Given the description of an element on the screen output the (x, y) to click on. 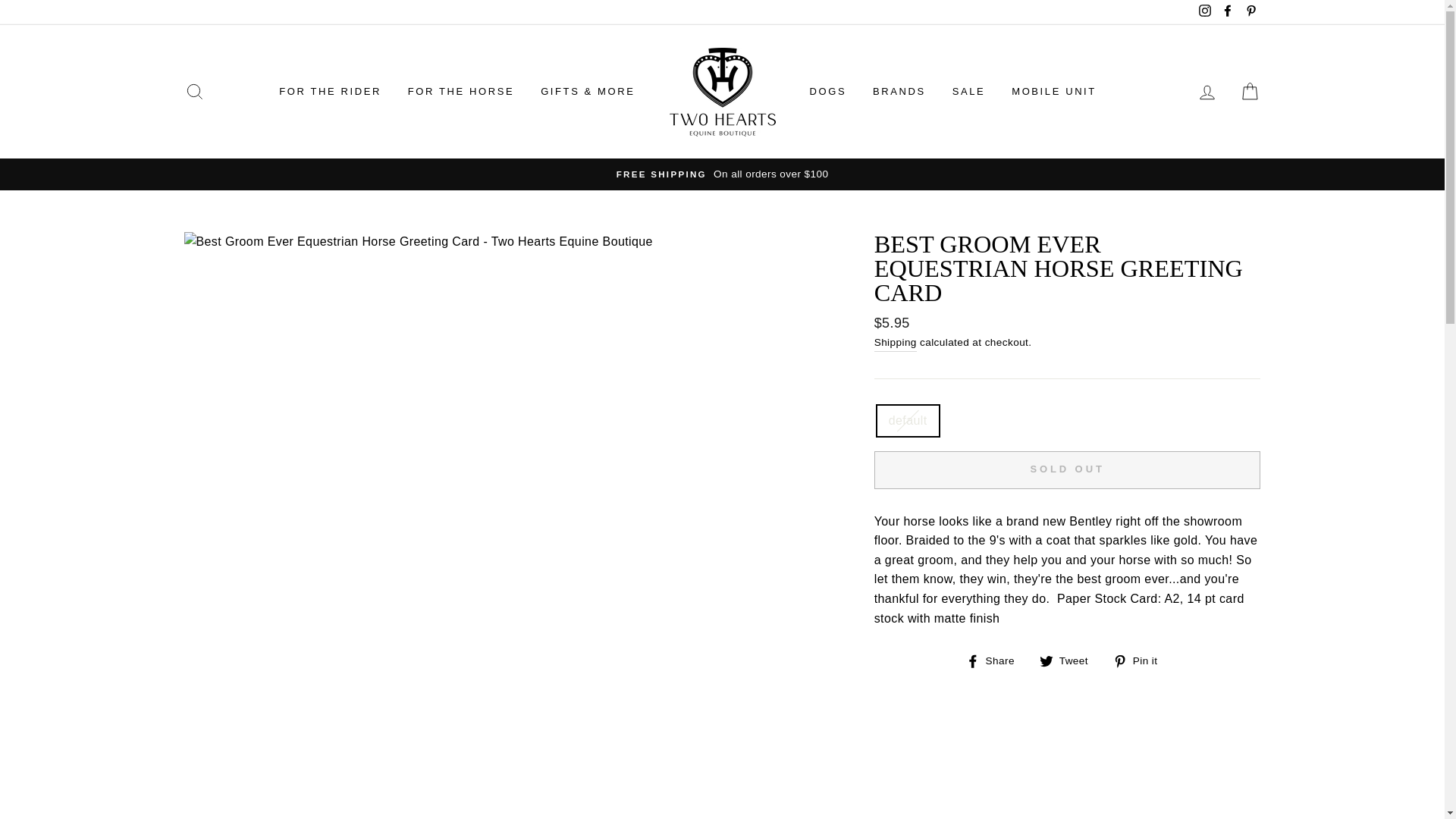
Share on Facebook (996, 660)
Tweet on Twitter (1069, 660)
Pin on Pinterest (1141, 660)
